Given the description of an element on the screen output the (x, y) to click on. 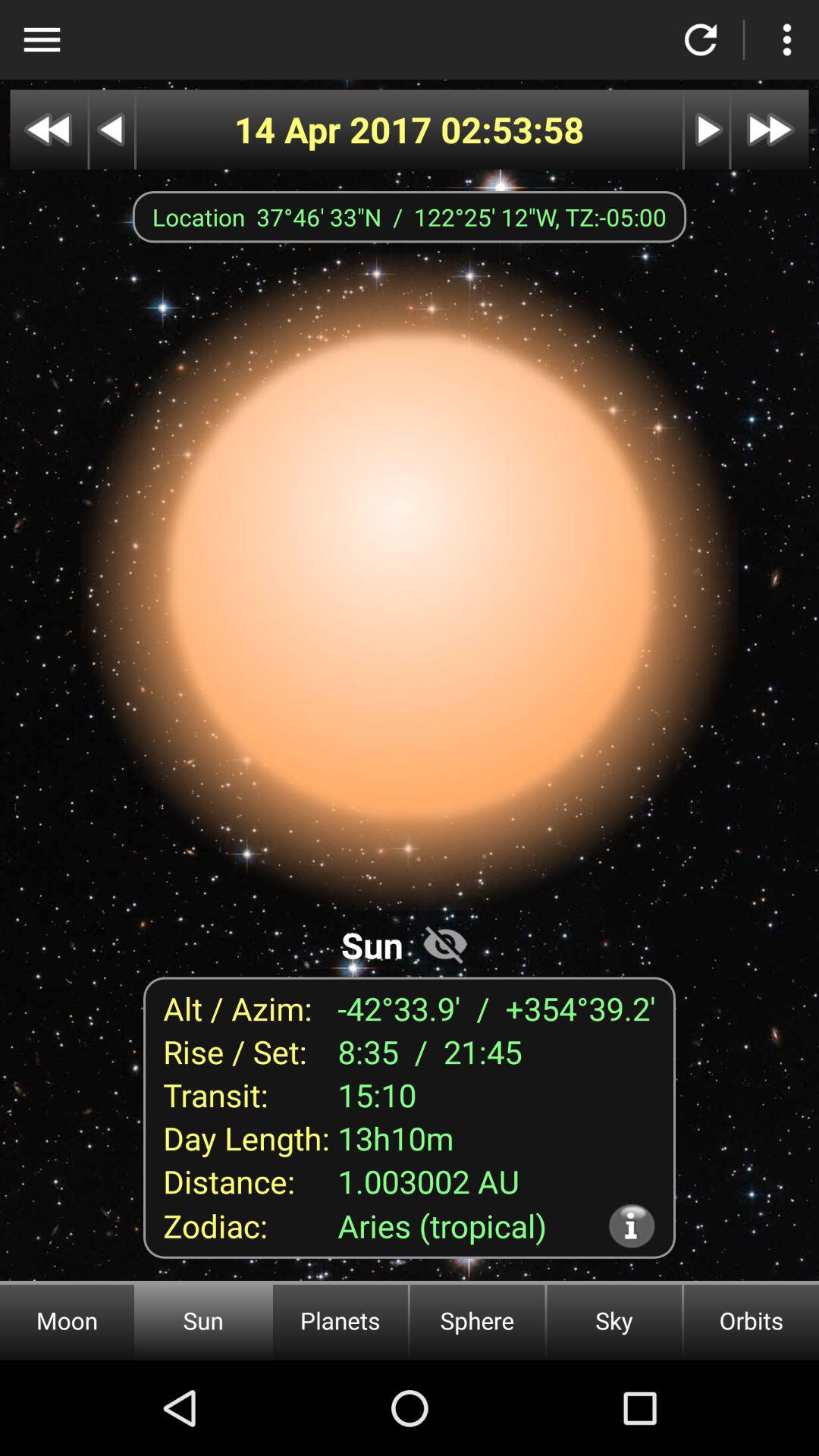
open settings (787, 39)
